Given the description of an element on the screen output the (x, y) to click on. 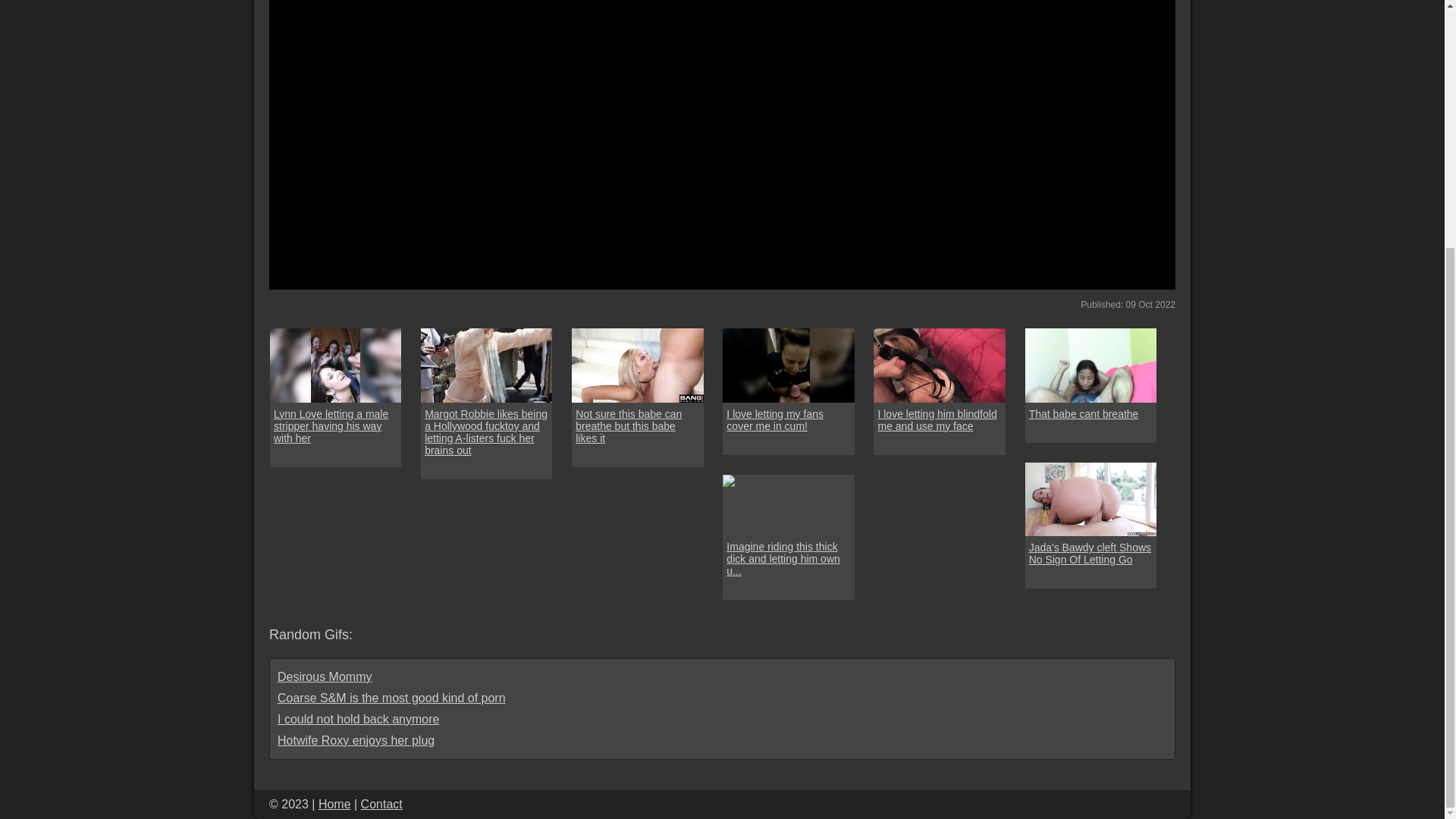
That babe cant breathe (1090, 365)
Jada's Bawdy cleft Shows No Sign Of Letting Go (1091, 553)
Contact (382, 804)
I love letting my fans cover me in cum! (788, 419)
That babe cant breathe (1083, 413)
Desirous Mommy (324, 676)
Not sure this babe can breathe but this babe likes it (636, 425)
Not sure this babe can breathe but this babe likes it (636, 425)
